Given the description of an element on the screen output the (x, y) to click on. 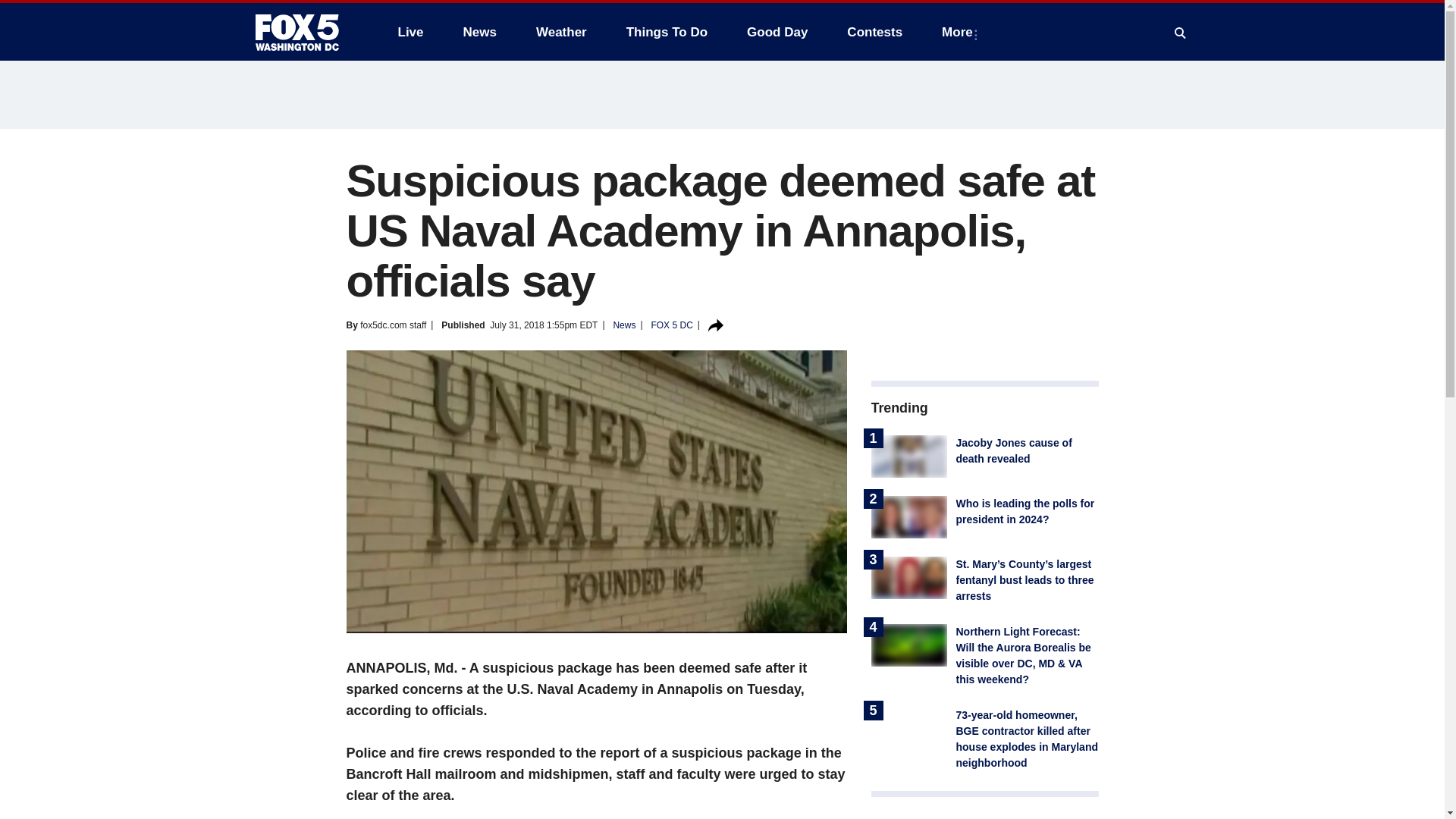
More (960, 32)
Things To Do (666, 32)
Contests (874, 32)
Live (410, 32)
Good Day (777, 32)
Weather (561, 32)
News (479, 32)
